Given the description of an element on the screen output the (x, y) to click on. 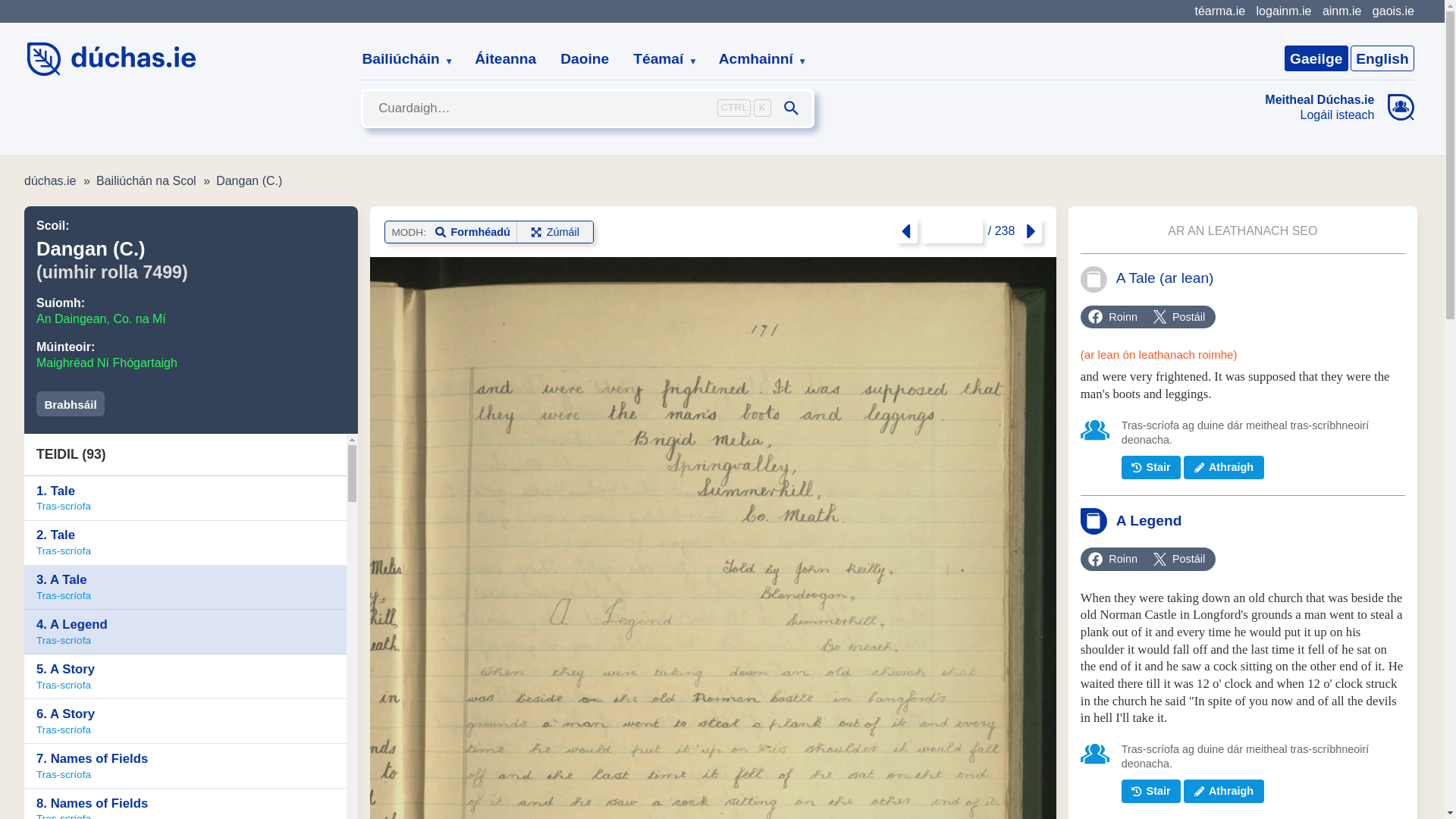
Gaeilge (1316, 58)
ainm.ie (1341, 11)
English (1382, 58)
logainm.ie (1283, 11)
gaois.ie (1393, 11)
Daoine (584, 58)
